Given the description of an element on the screen output the (x, y) to click on. 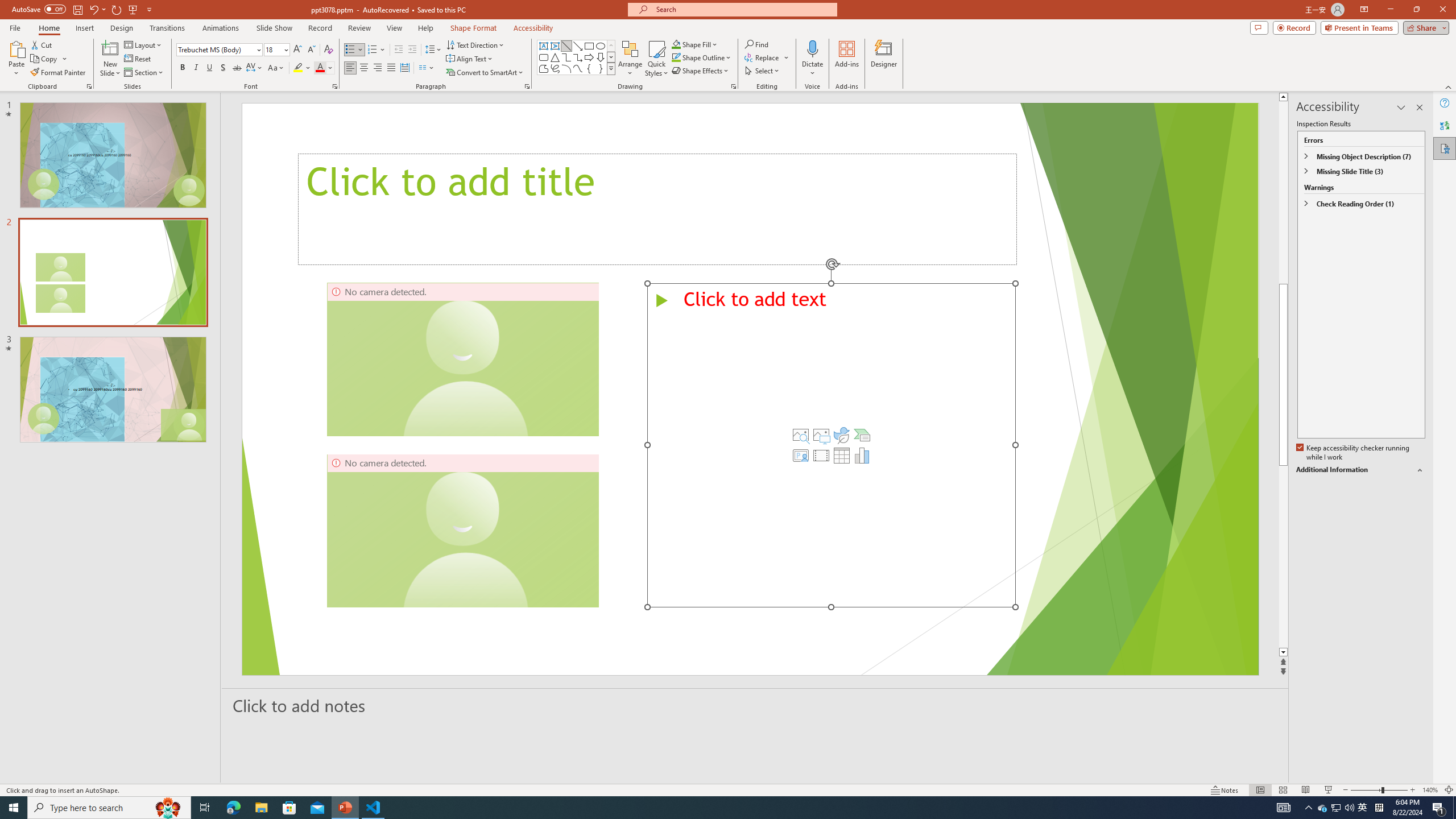
Insert Chart (861, 455)
